Given the description of an element on the screen output the (x, y) to click on. 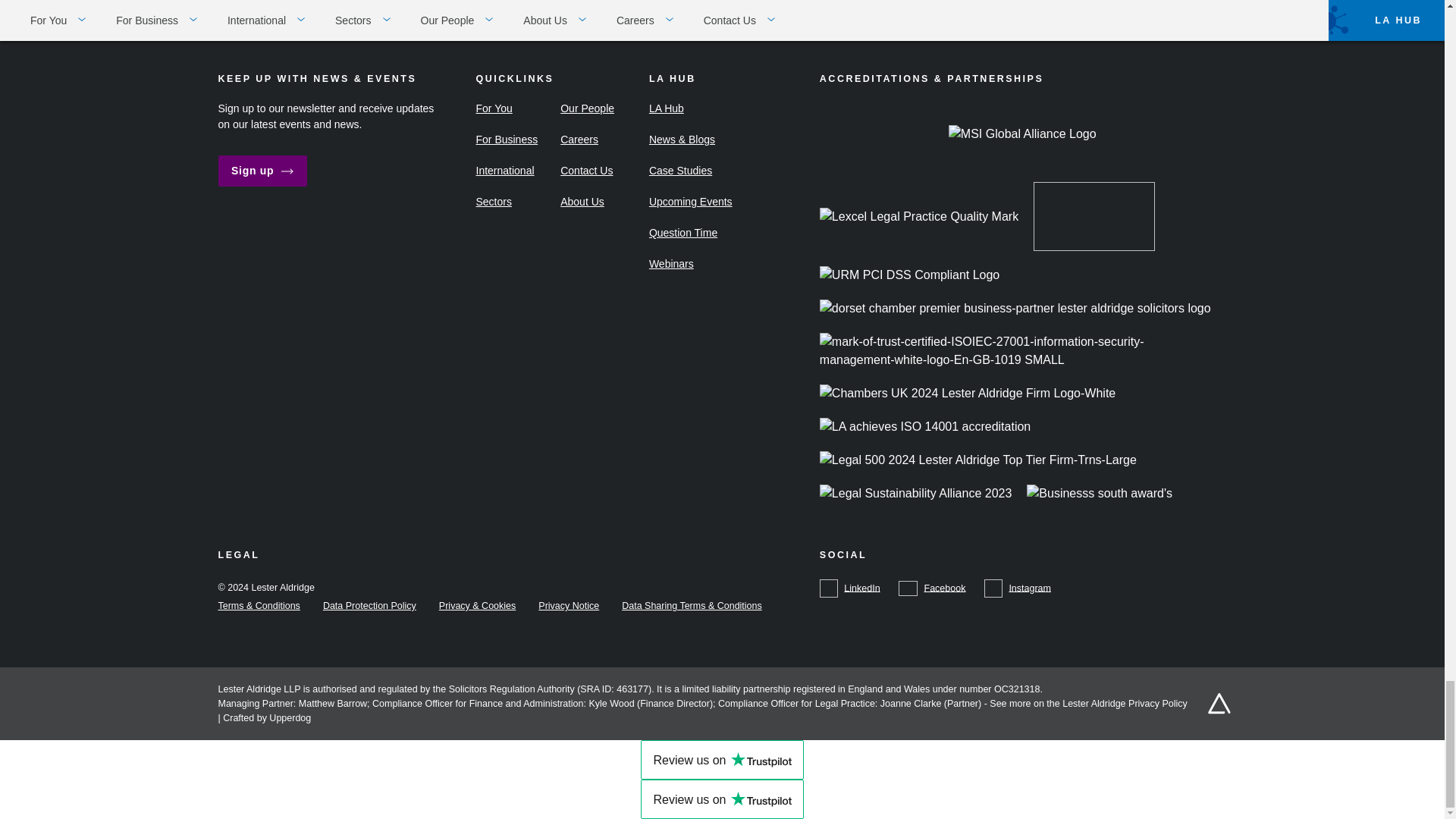
ISO Certified (1023, 358)
The Legal 500 UK 2024 Leading Firm (985, 467)
Lester Aldridge on Instagram (1017, 588)
Mark of trust certificate ISO 14001 (932, 434)
Dorset Chamber Premier Business Partner (1022, 315)
MSI Global Alliance Member (1030, 141)
The Legal Sustainability Alliance (923, 500)
Lester Aldridge on Facebook (931, 588)
Chambers UK 2024 Top Ranked Firm (975, 400)
Lexcel Law Society Accredited (926, 224)
